Given the description of an element on the screen output the (x, y) to click on. 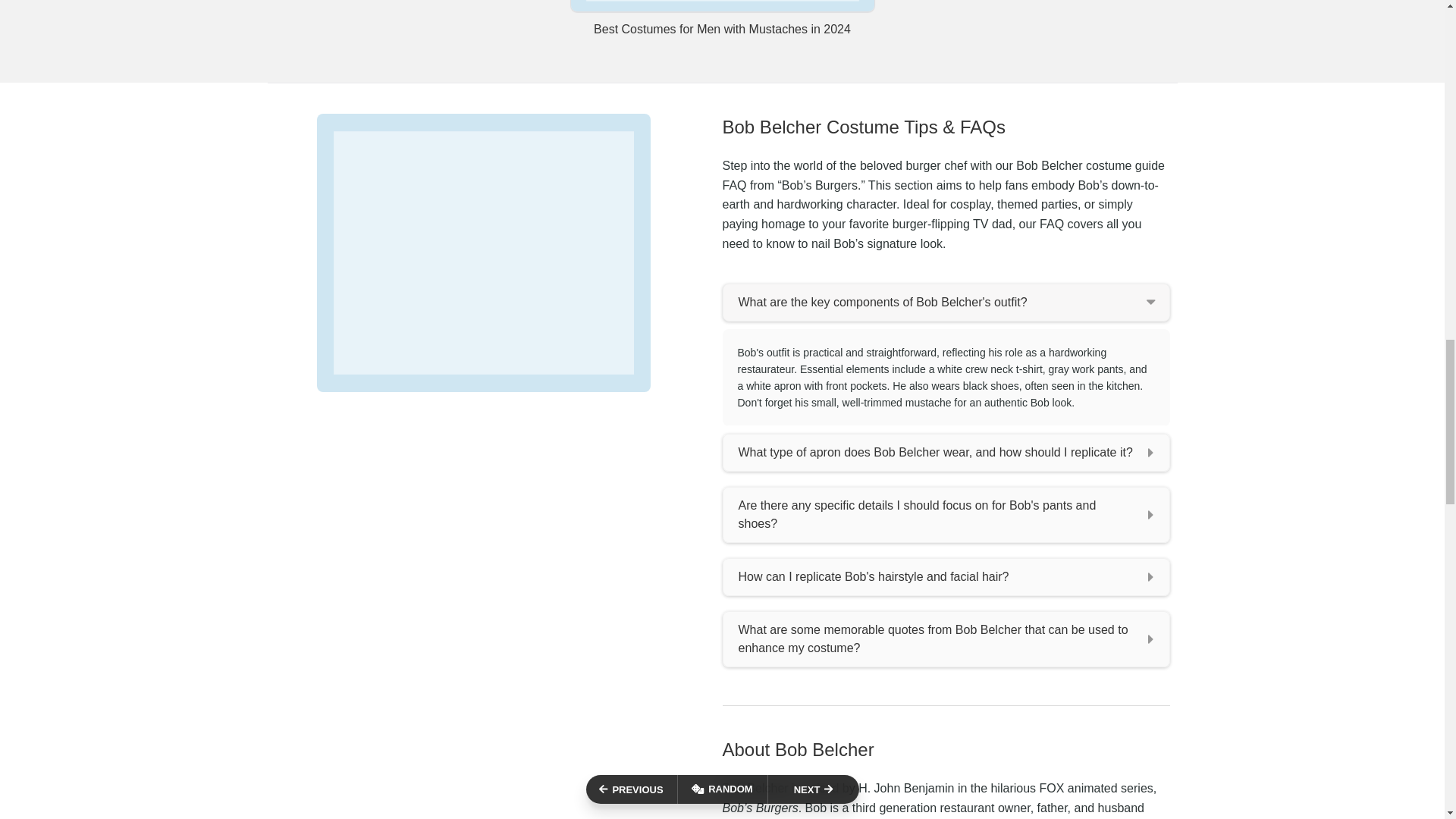
Best Costumes for Men with Mustaches in 2024 (721, 19)
How can I replicate Bob's hairstyle and facial hair? (945, 576)
What are the key components of Bob Belcher's outfit? (945, 302)
